Given the description of an element on the screen output the (x, y) to click on. 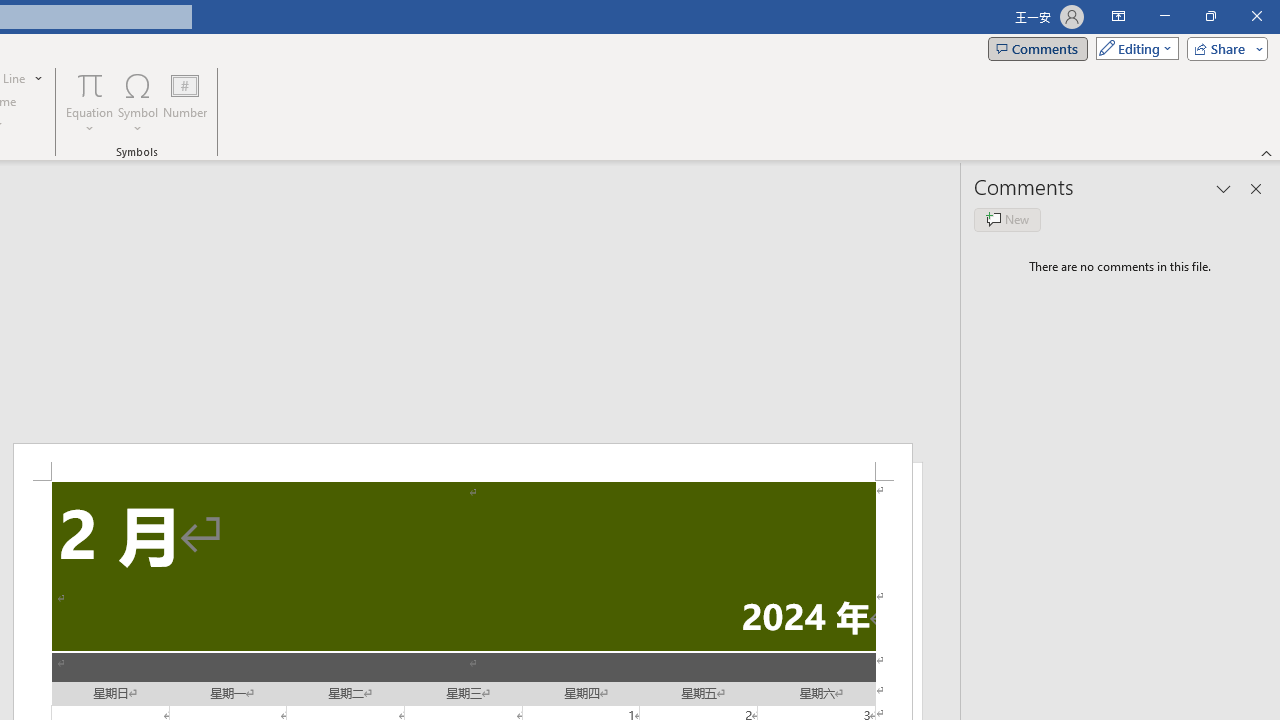
New comment (1007, 219)
Number... (185, 102)
Header -Section 2- (462, 461)
